Given the description of an element on the screen output the (x, y) to click on. 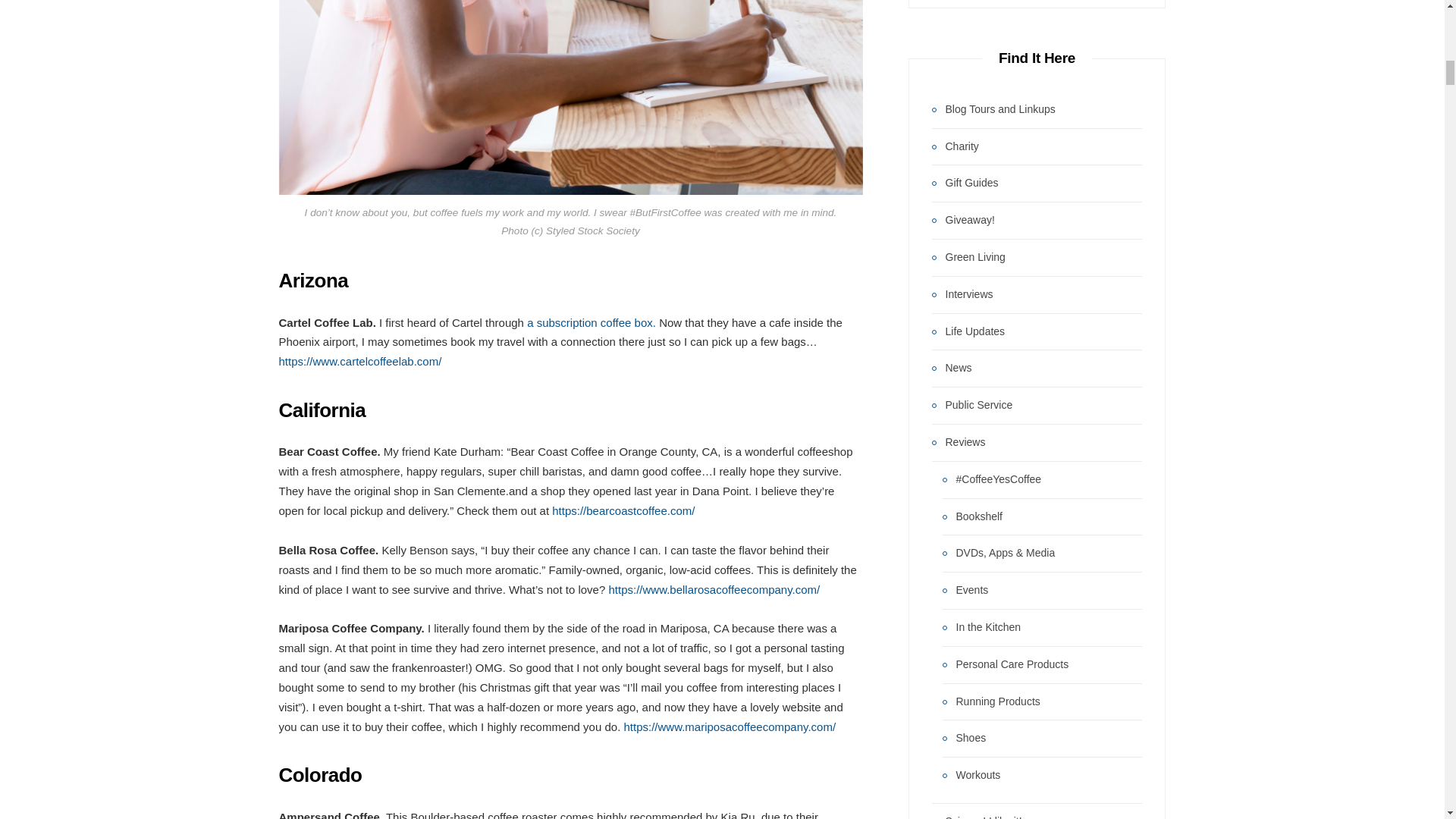
a subscription coffee box. (593, 322)
